Given the description of an element on the screen output the (x, y) to click on. 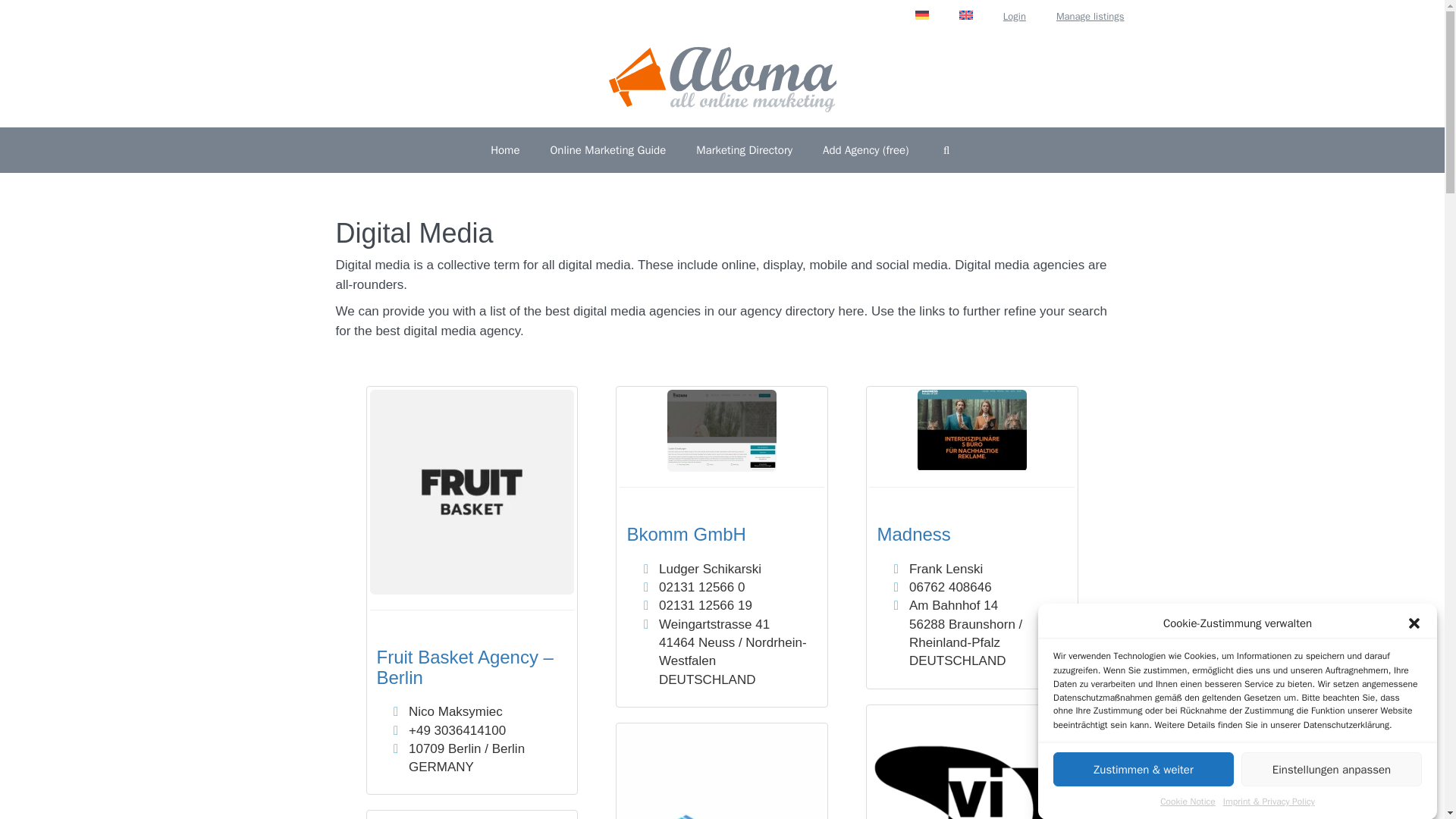
Home (505, 149)
Marketing Directory (744, 149)
Online Marketing Guide (607, 149)
Manage listings (1090, 16)
Login (1014, 16)
